Given the description of an element on the screen output the (x, y) to click on. 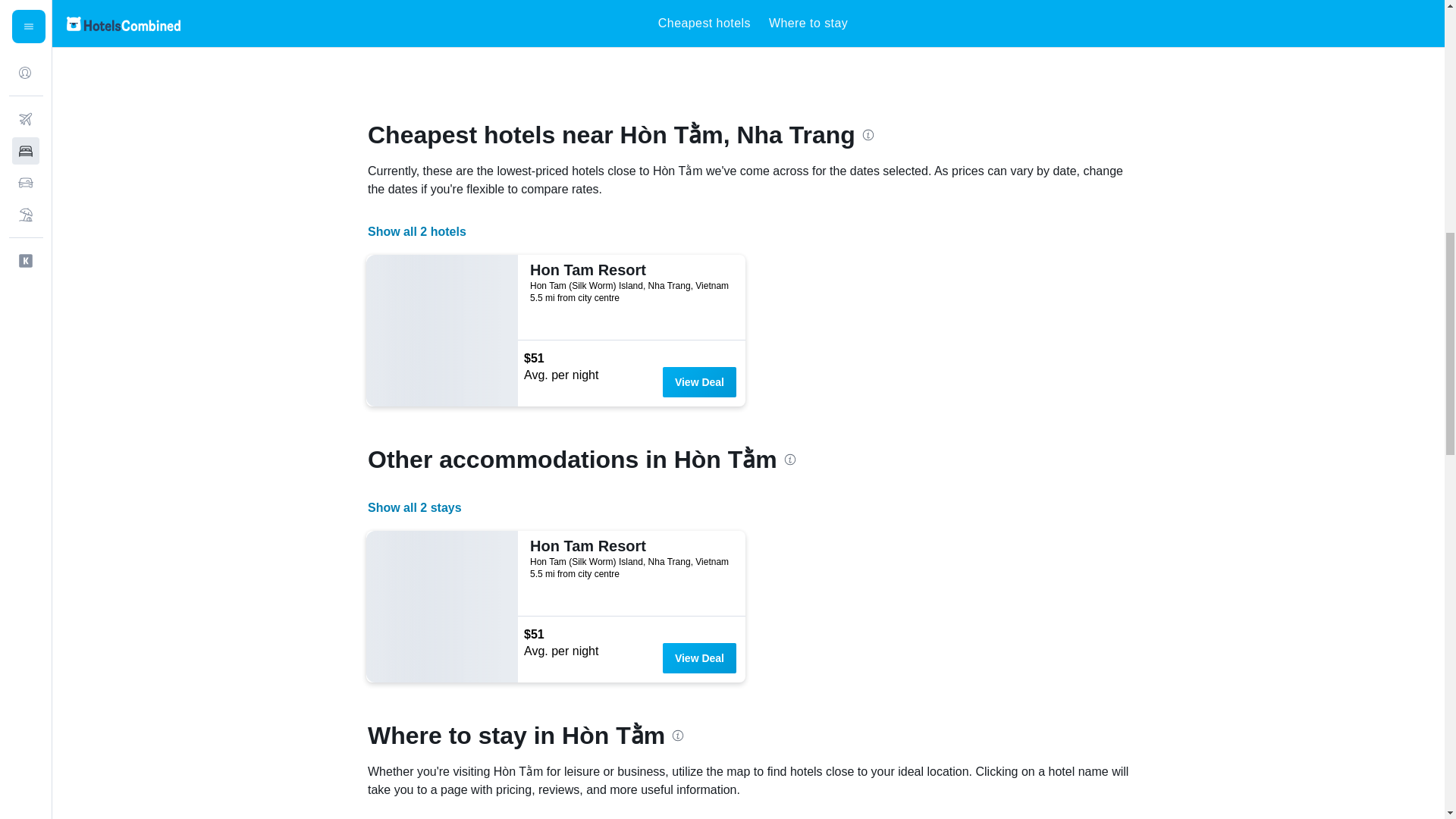
View Deal (699, 657)
Vietnam Hotels (434, 22)
Nha Trang Hotels (666, 22)
View Deal (699, 381)
Show all 2 stays (414, 507)
Home (373, 22)
Hon Tam Resort (629, 270)
Khanh Hoa Hotels (550, 22)
Show all 2 hotels (416, 231)
Hon Tam Resort (629, 546)
